Given the description of an element on the screen output the (x, y) to click on. 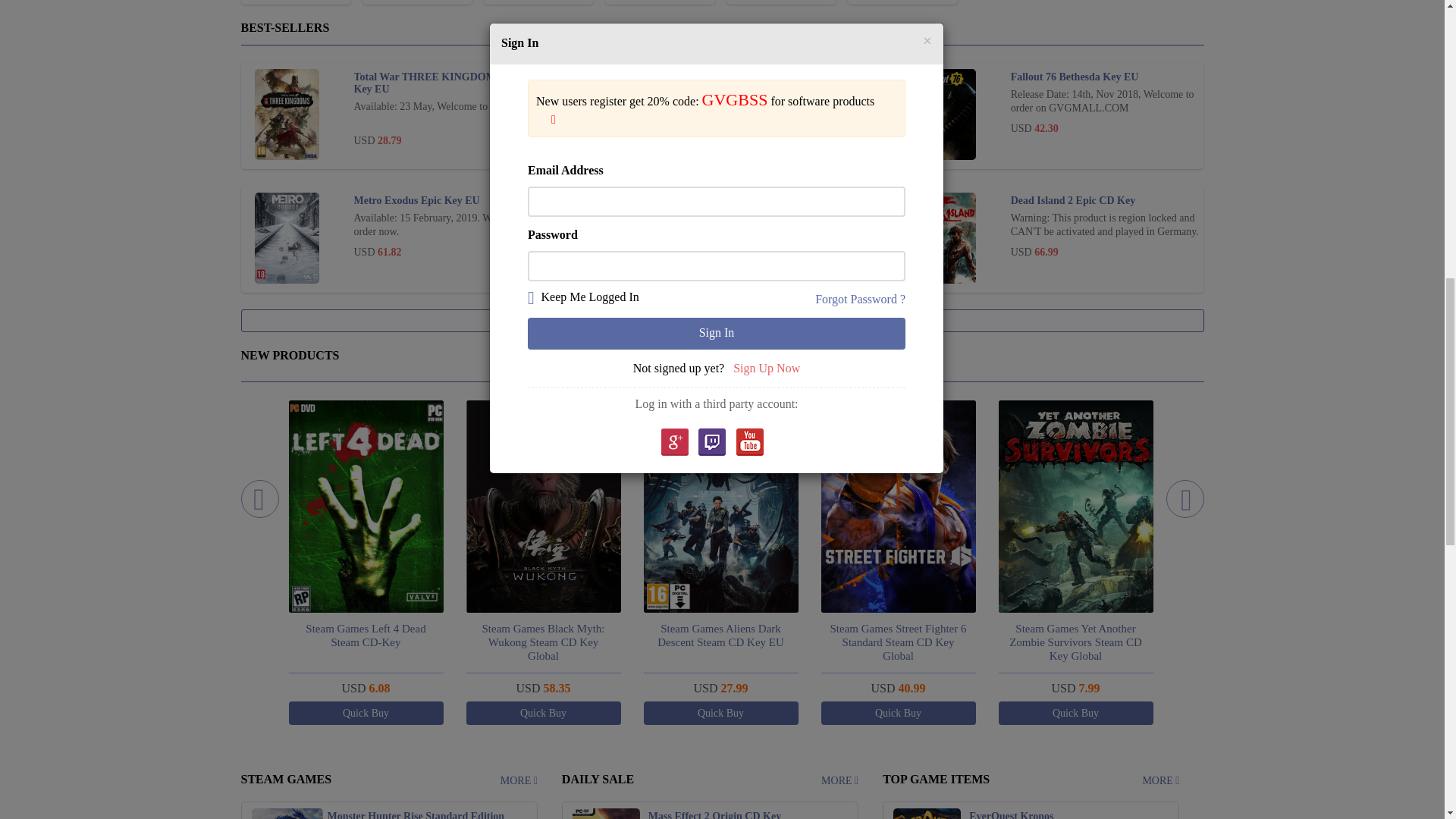
Mass Effect 2 Origin CD Key (606, 813)
Monster Hunter Rise Standard Edition Steam CD Key Global (287, 813)
